Given the description of an element on the screen output the (x, y) to click on. 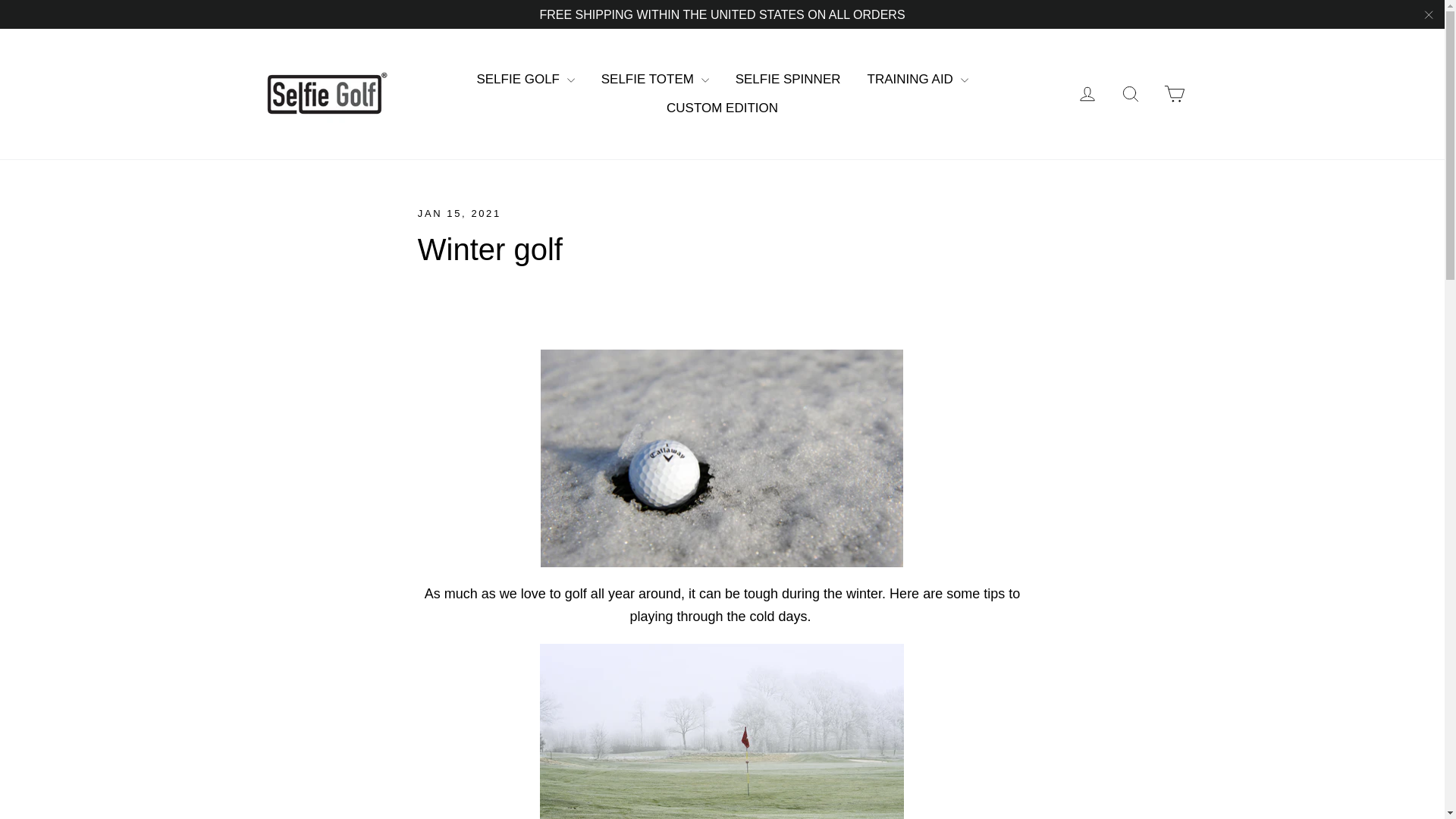
TRAINING AID (917, 80)
SELFIE GOLF (524, 80)
SELFIE TOTEM (654, 80)
SELFIE SPINNER (787, 80)
CUSTOM EDITION (722, 108)
